Given the description of an element on the screen output the (x, y) to click on. 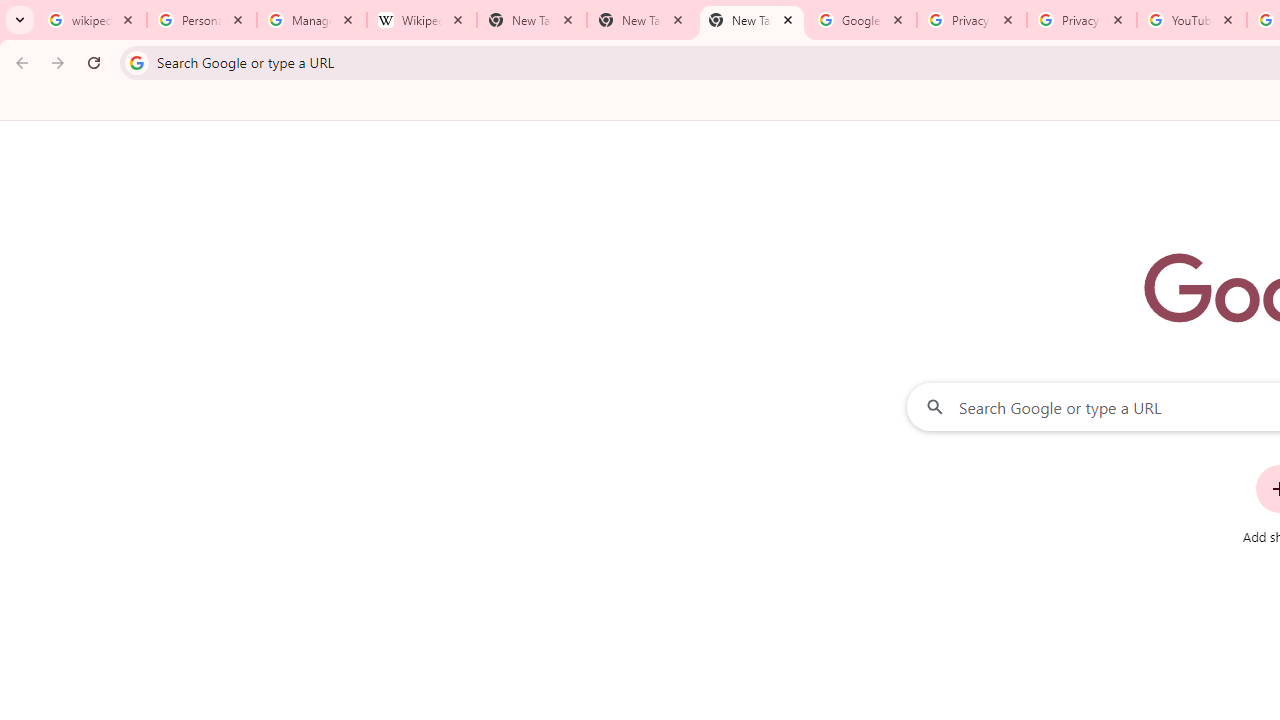
Wikipedia:Edit requests - Wikipedia (422, 20)
Google Drive: Sign-in (861, 20)
YouTube (1191, 20)
New Tab (752, 20)
New Tab (642, 20)
Personalization & Google Search results - Google Search Help (202, 20)
